Given the description of an element on the screen output the (x, y) to click on. 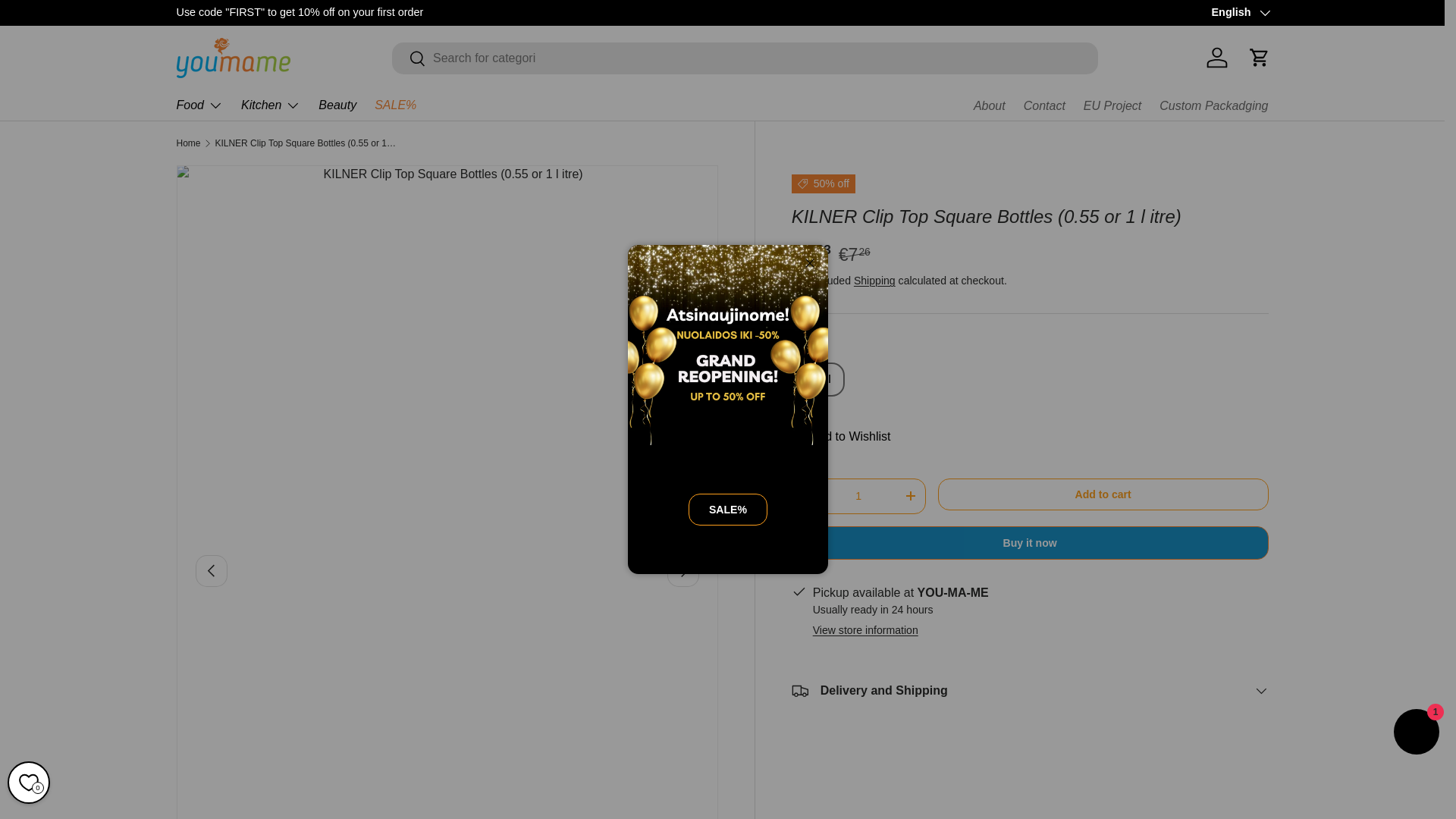
Search (408, 58)
Log in (1216, 57)
1 (858, 495)
Food (199, 105)
English (1239, 12)
Cart (1258, 57)
Skip to content (68, 21)
Shopify online store chat (1416, 733)
